Given the description of an element on the screen output the (x, y) to click on. 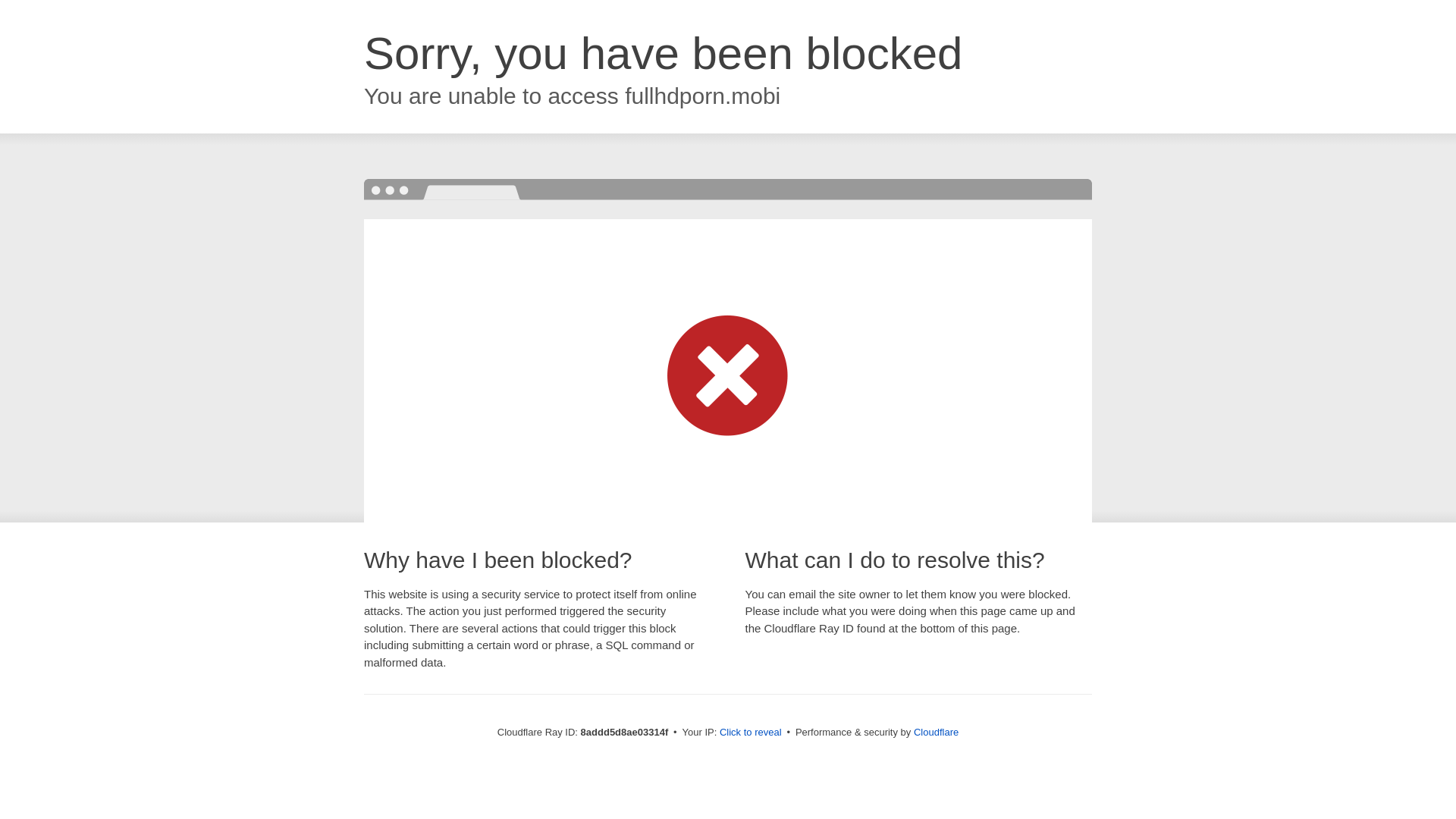
Click to reveal (750, 732)
Cloudflare (936, 731)
